Given the description of an element on the screen output the (x, y) to click on. 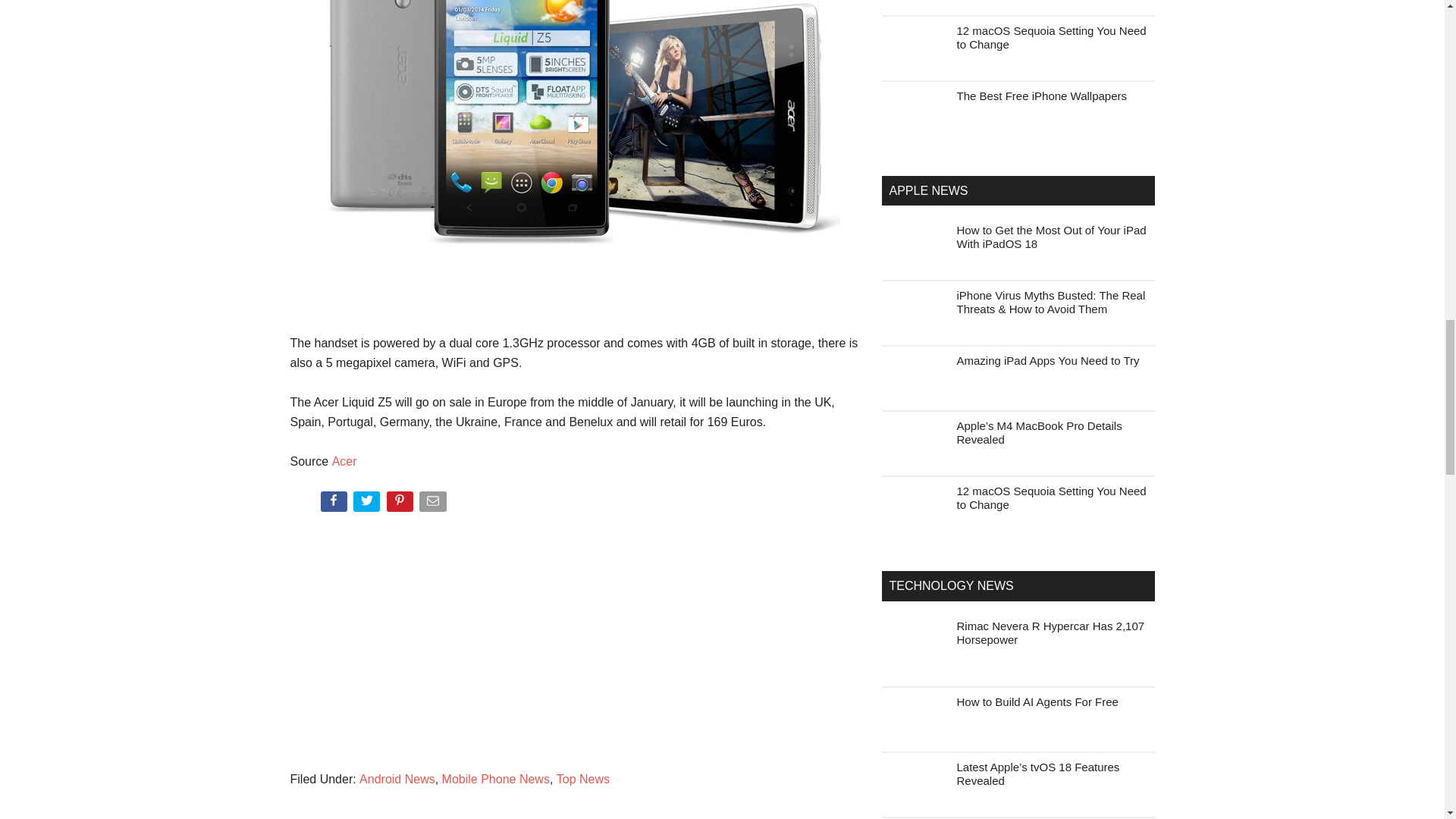
Acer (343, 461)
Pin (401, 504)
Mobile Phone News (496, 779)
Top News (583, 779)
Tweet (367, 504)
Email (433, 504)
Android News (397, 779)
Share on Facebook (334, 504)
